Given the description of an element on the screen output the (x, y) to click on. 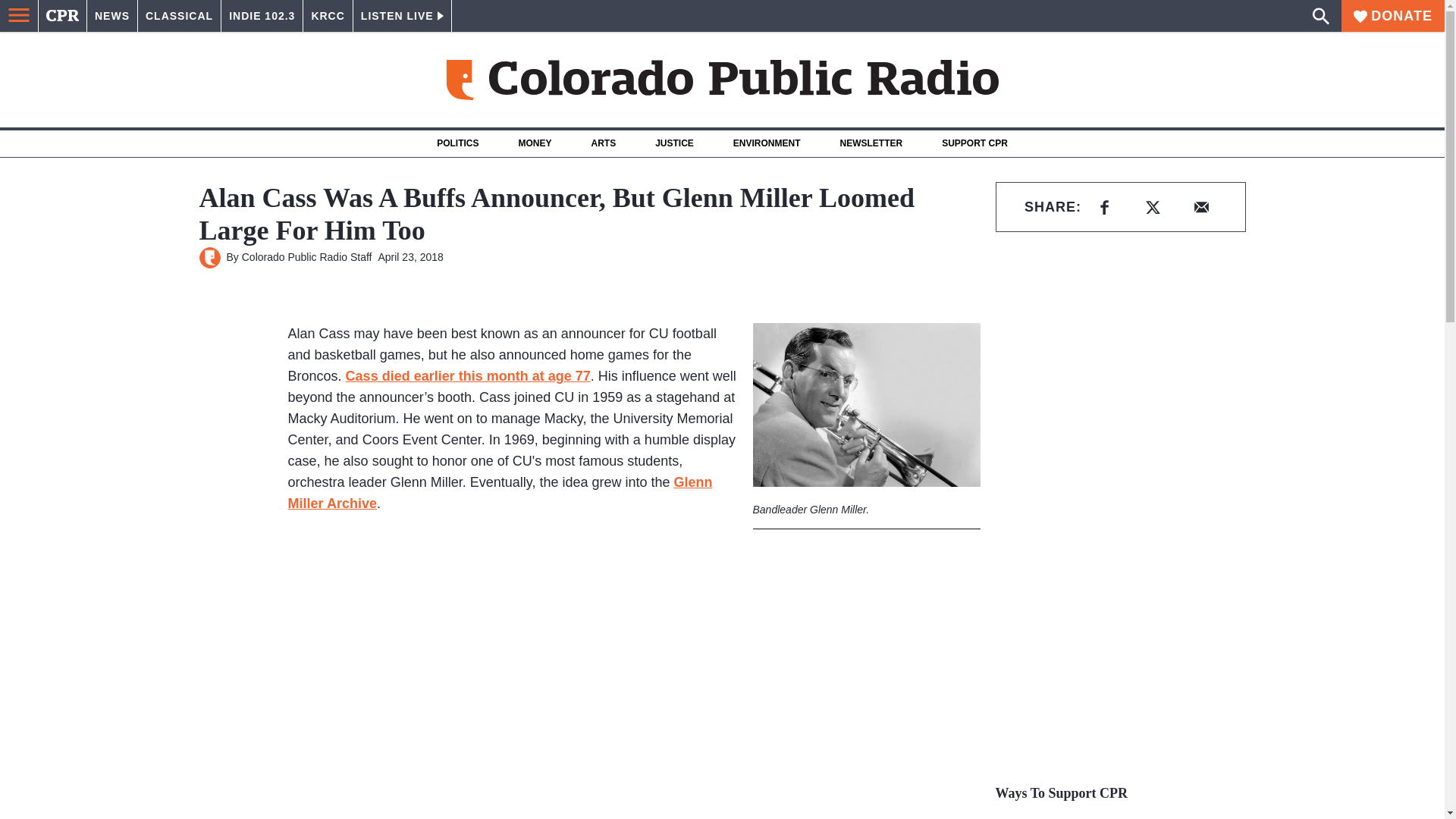
CLASSICAL (179, 15)
LISTEN LIVE (402, 15)
NEWS (111, 15)
KRCC (327, 15)
INDIE 102.3 (261, 15)
